Given the description of an element on the screen output the (x, y) to click on. 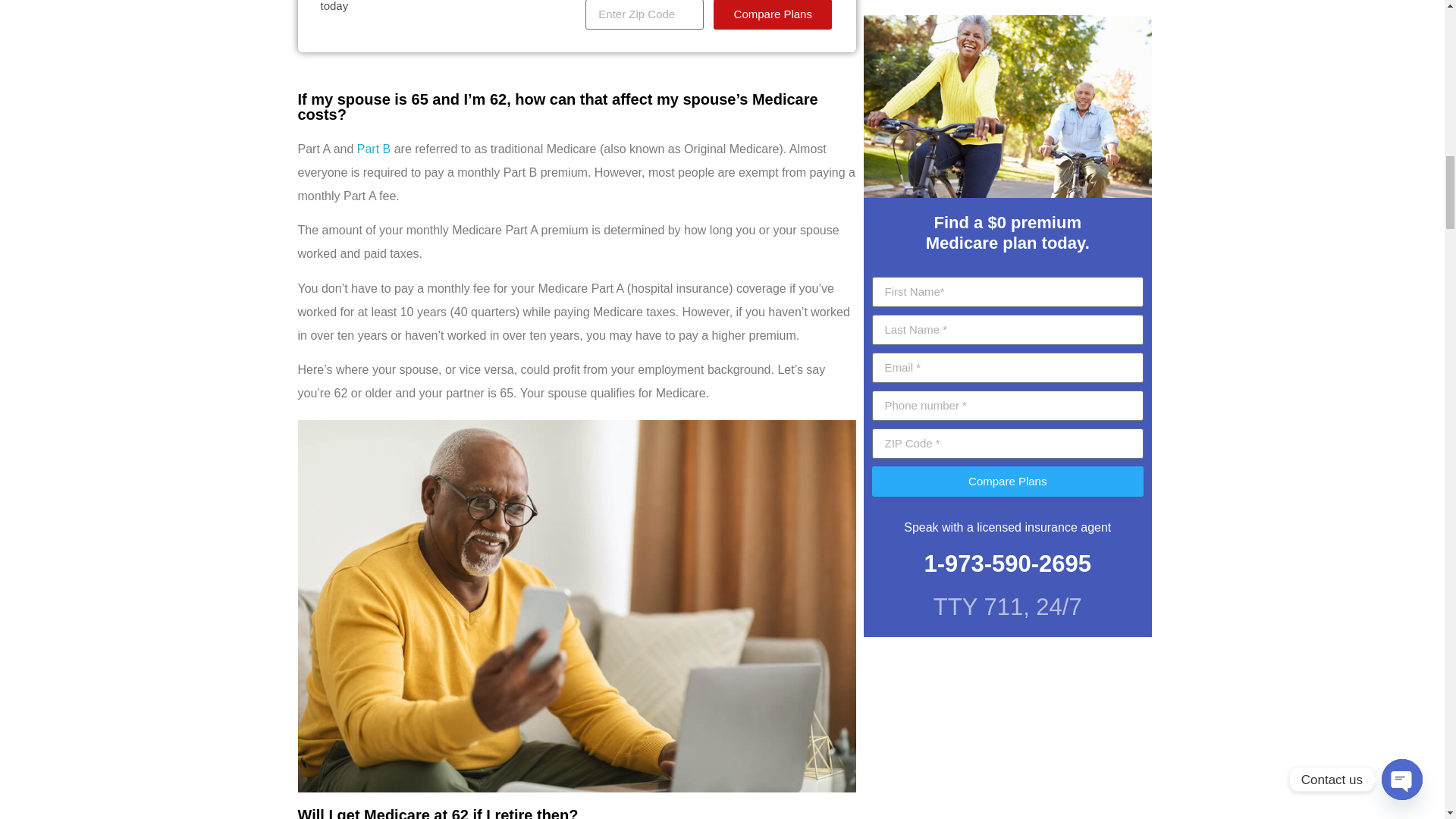
Part B (373, 148)
Compare Plans (772, 14)
